Given the description of an element on the screen output the (x, y) to click on. 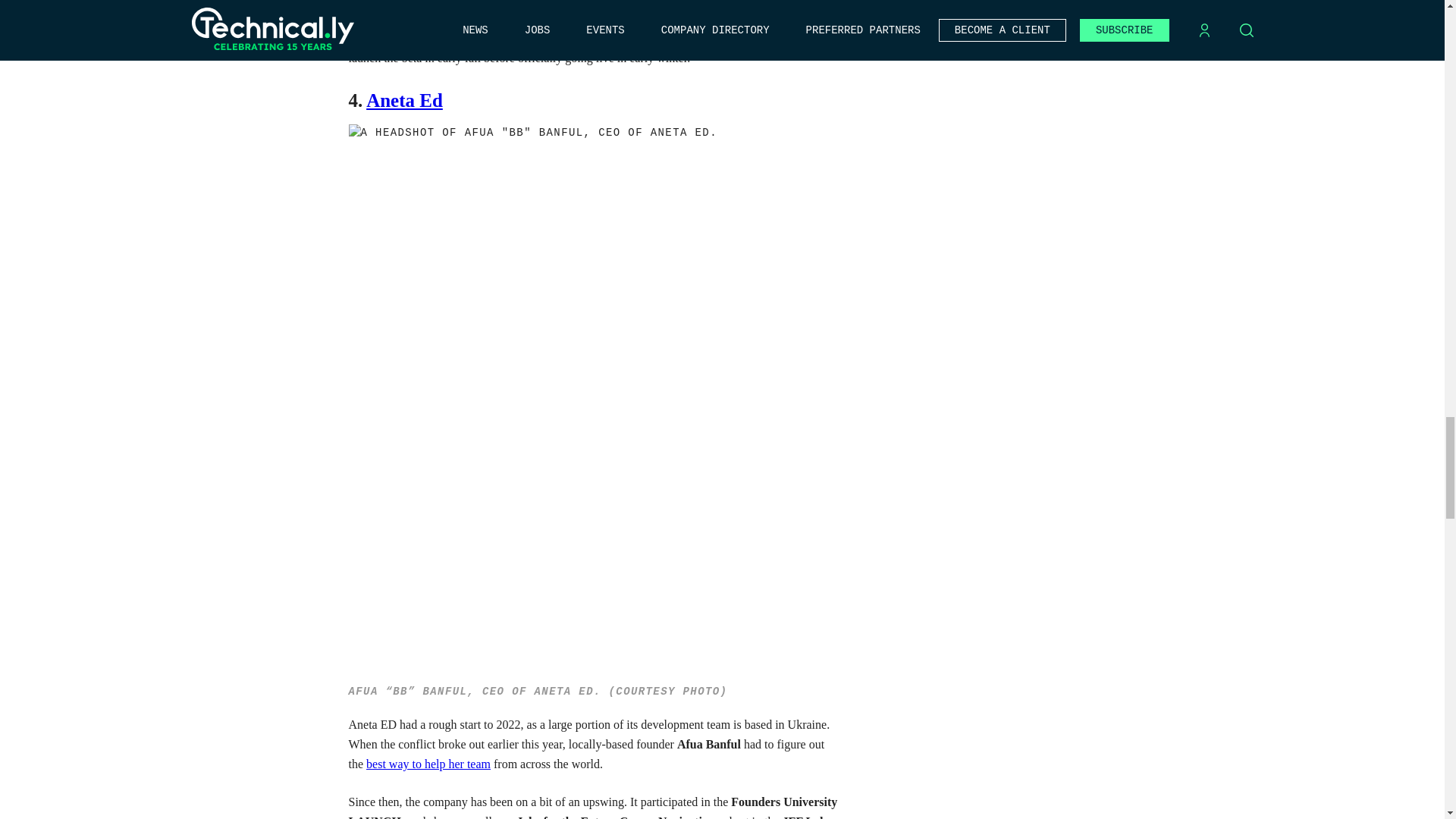
best way to help her team (428, 763)
Aneta Ed (404, 100)
